Given the description of an element on the screen output the (x, y) to click on. 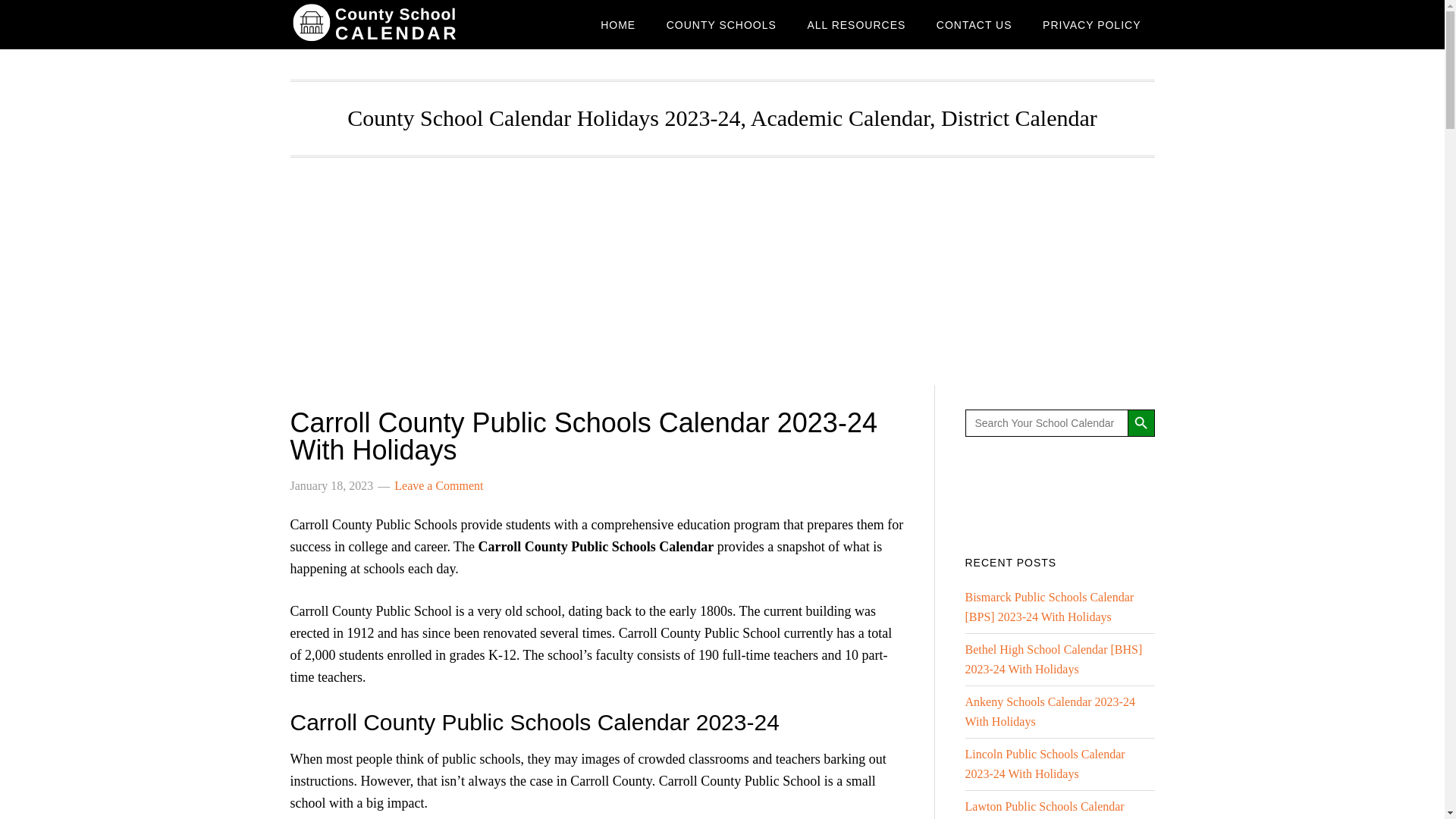
COUNTY SCHOOL CALENDAR 2023-24 (410, 24)
HOME (617, 24)
COUNTY SCHOOLS (721, 24)
